Given the description of an element on the screen output the (x, y) to click on. 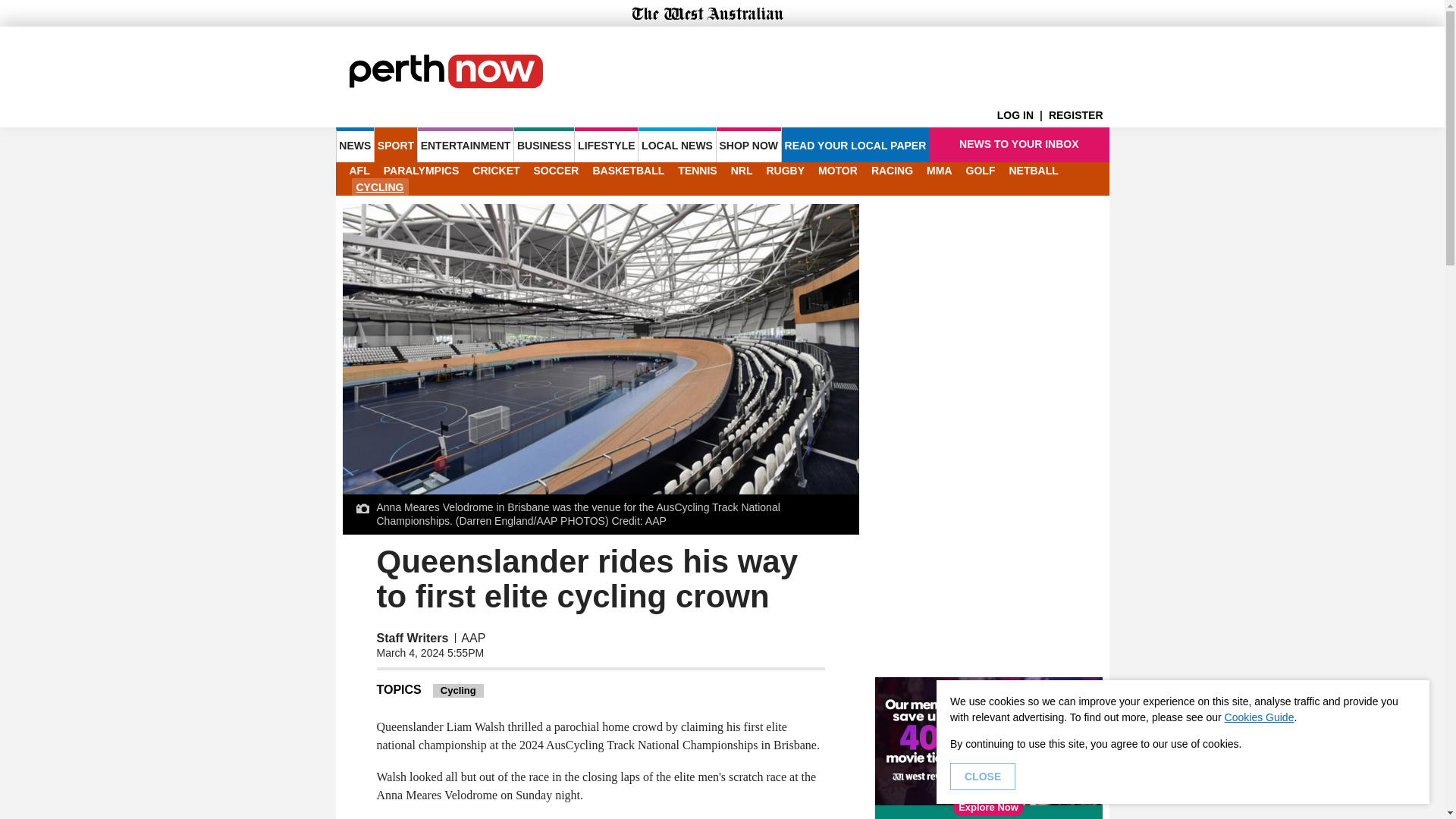
ENTERTAINMENT (465, 144)
REGISTER (1078, 115)
LOG IN (1022, 115)
SPORT (395, 144)
NEWS (354, 144)
